Given the description of an element on the screen output the (x, y) to click on. 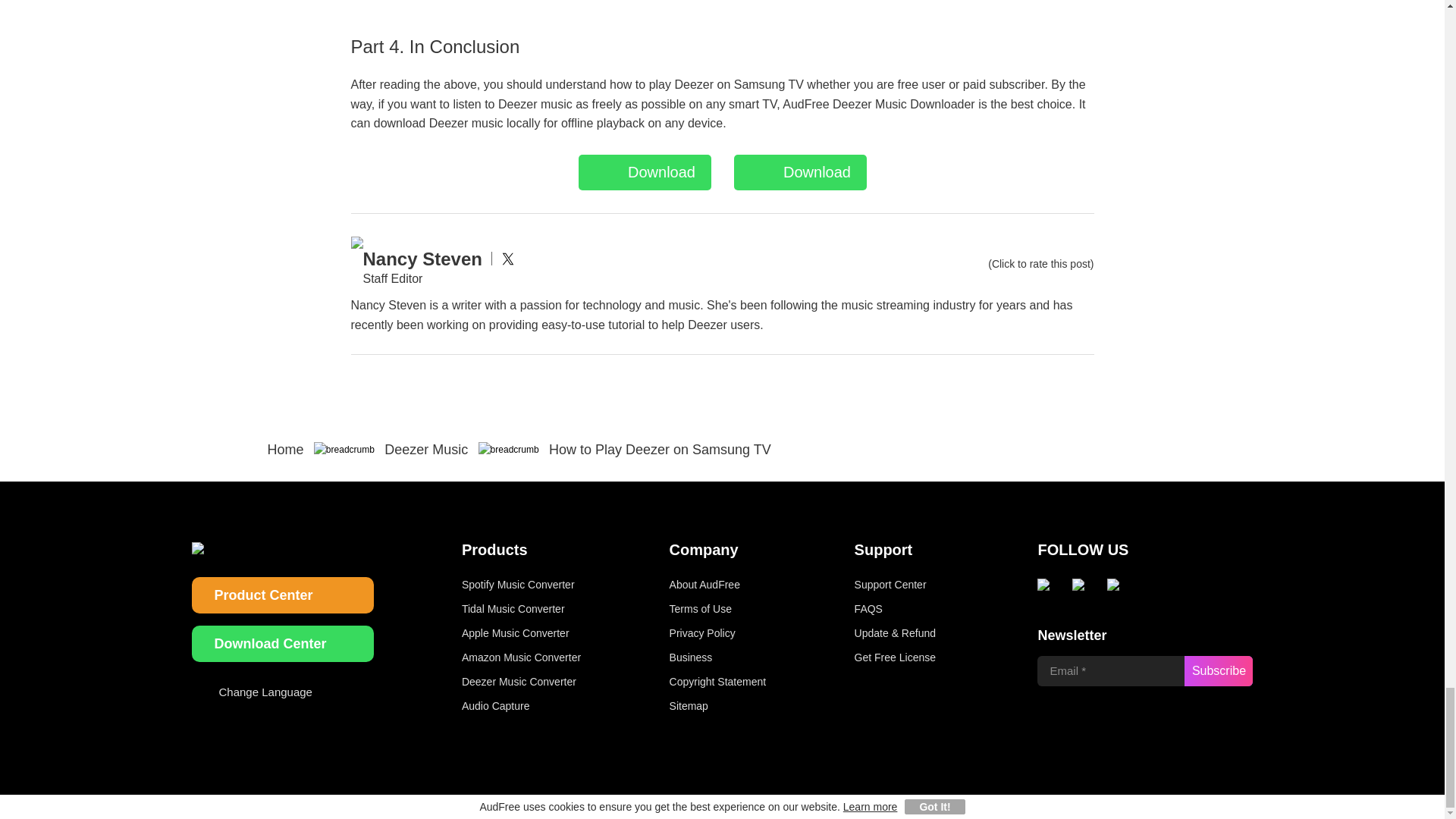
Subscribe (1218, 671)
Nancy Steven (421, 258)
Download (644, 172)
Download (799, 172)
